Given the description of an element on the screen output the (x, y) to click on. 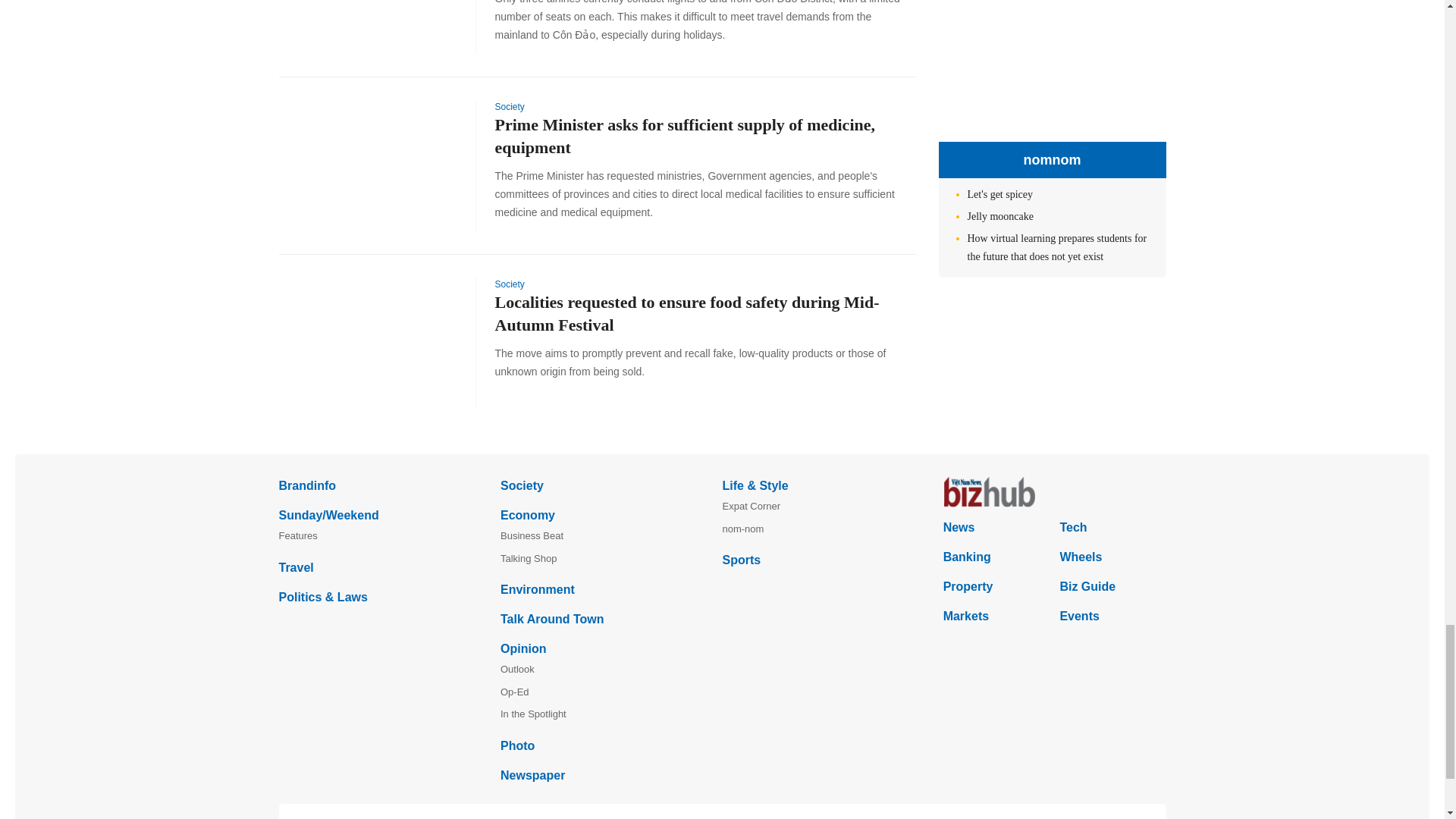
bizhub (1054, 491)
